Given the description of an element on the screen output the (x, y) to click on. 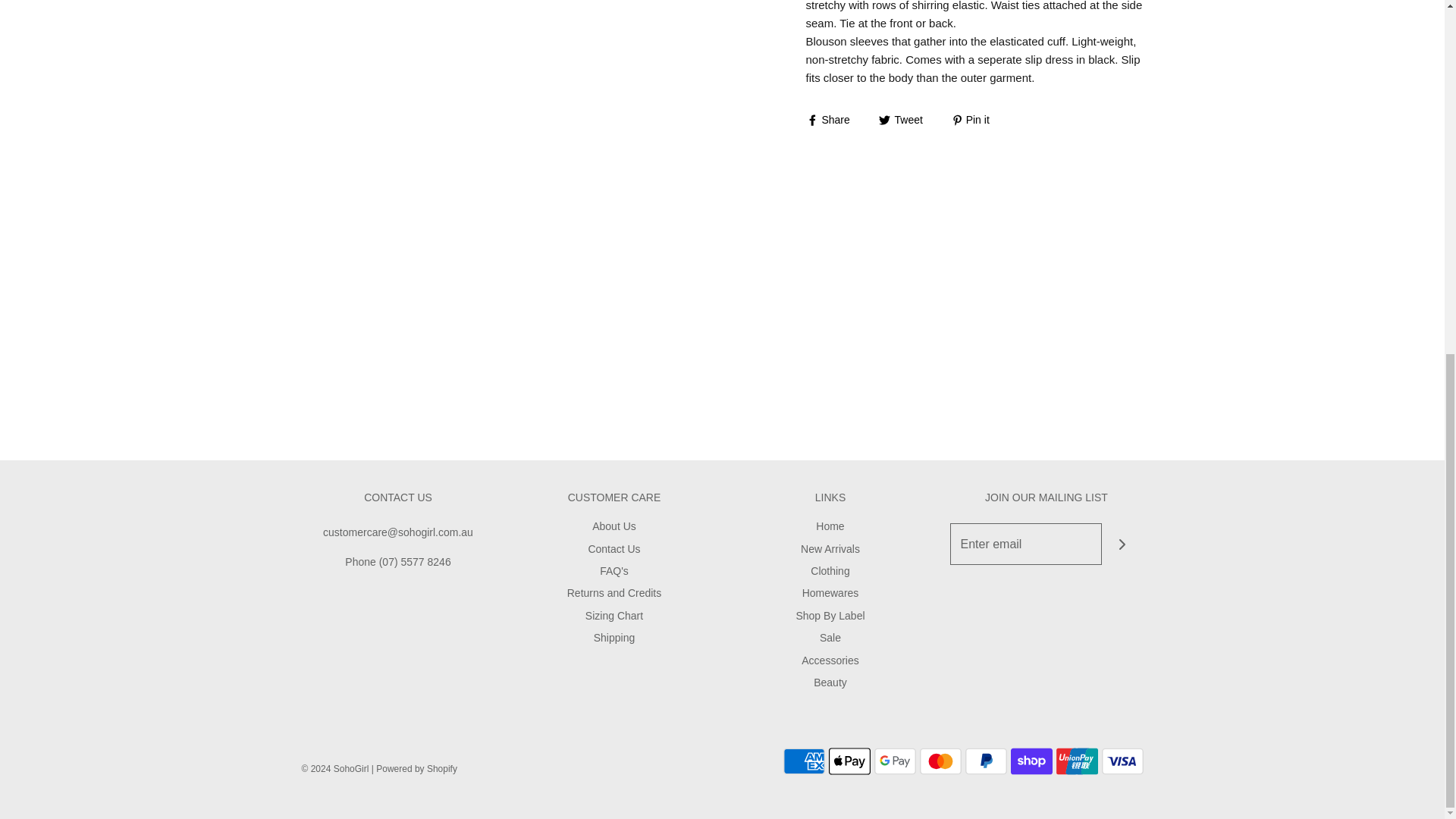
American Express (803, 761)
Apple Pay (848, 761)
Google Pay (894, 761)
Visa (1121, 761)
PayPal (984, 761)
Shop Pay (1030, 761)
Union Pay (1076, 761)
Mastercard (939, 761)
